Given the description of an element on the screen output the (x, y) to click on. 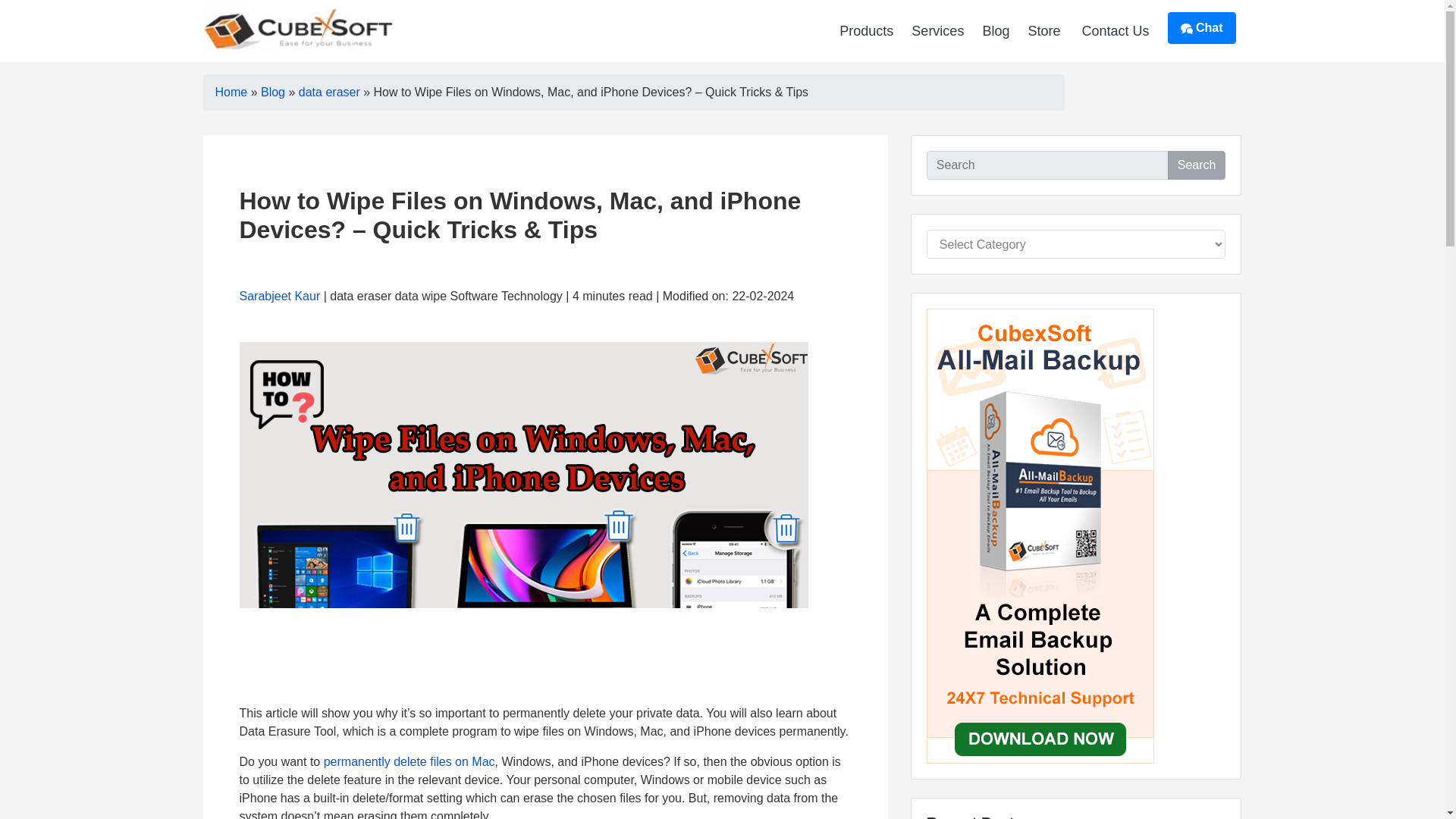
Blog (994, 30)
Chat Bubbles Chat (1201, 28)
Sarabjeet Kaur (280, 295)
Products (865, 30)
data eraser (328, 91)
Contact Us (1114, 30)
Home (231, 91)
View posts by Sarabjeet Kaur (280, 295)
Blog (272, 91)
permanently delete files on Mac (409, 761)
